Given the description of an element on the screen output the (x, y) to click on. 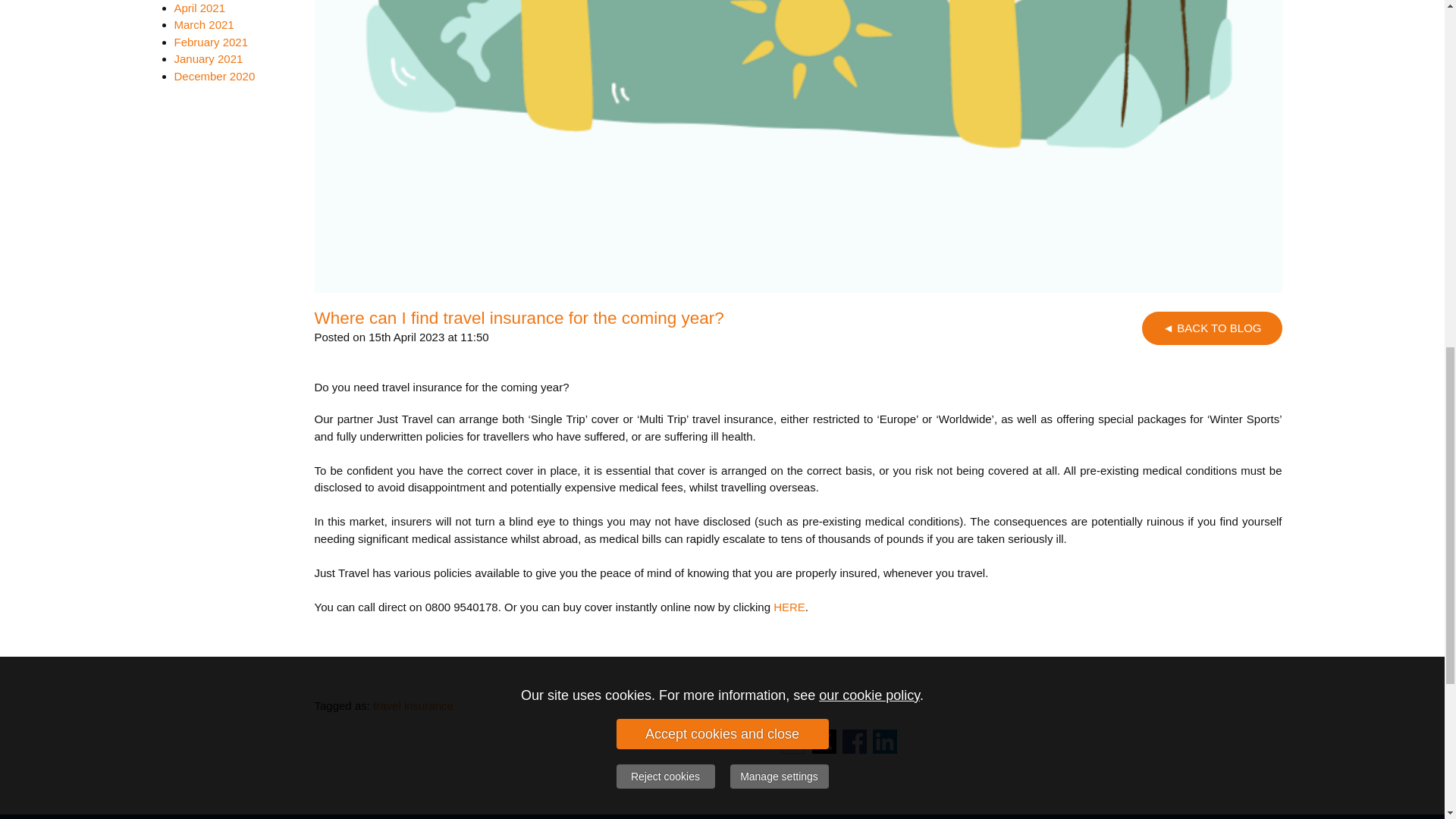
BACK TO BLOG (1211, 327)
HERE (789, 606)
travel insurance (412, 705)
